Given the description of an element on the screen output the (x, y) to click on. 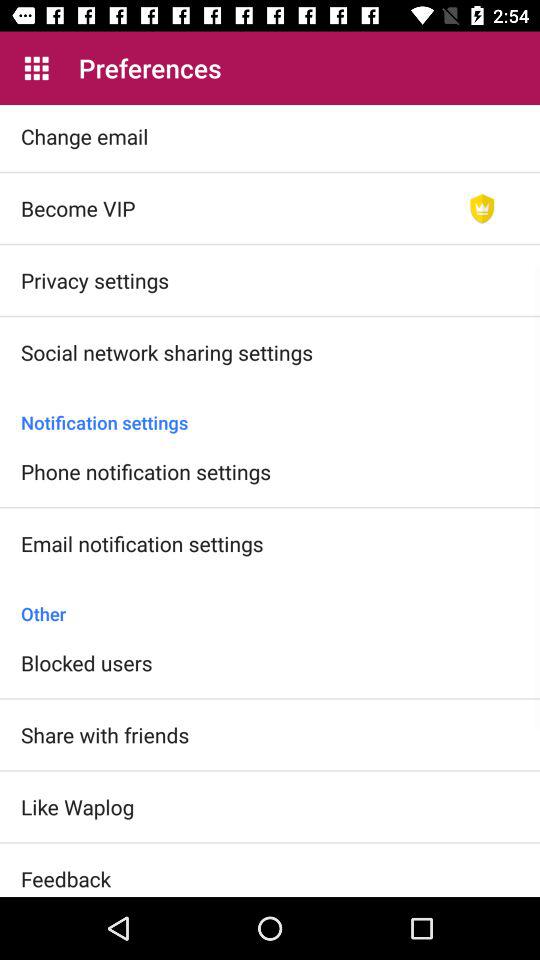
open app next to preferences icon (36, 68)
